Given the description of an element on the screen output the (x, y) to click on. 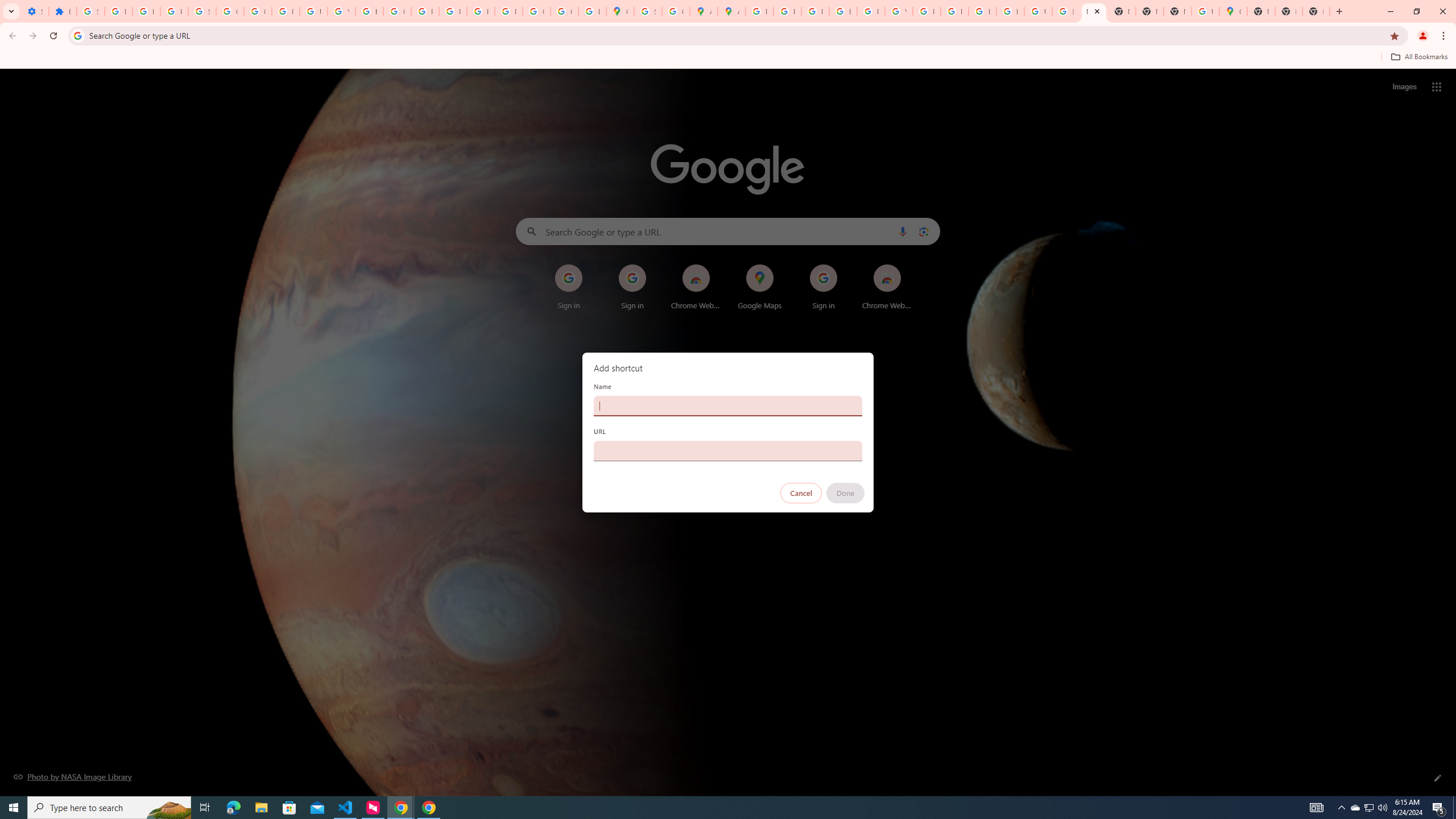
YouTube (341, 11)
New Tab (1260, 11)
Google Maps (620, 11)
Create your Google Account (675, 11)
Privacy Help Center - Policies Help (425, 11)
